Given the description of an element on the screen output the (x, y) to click on. 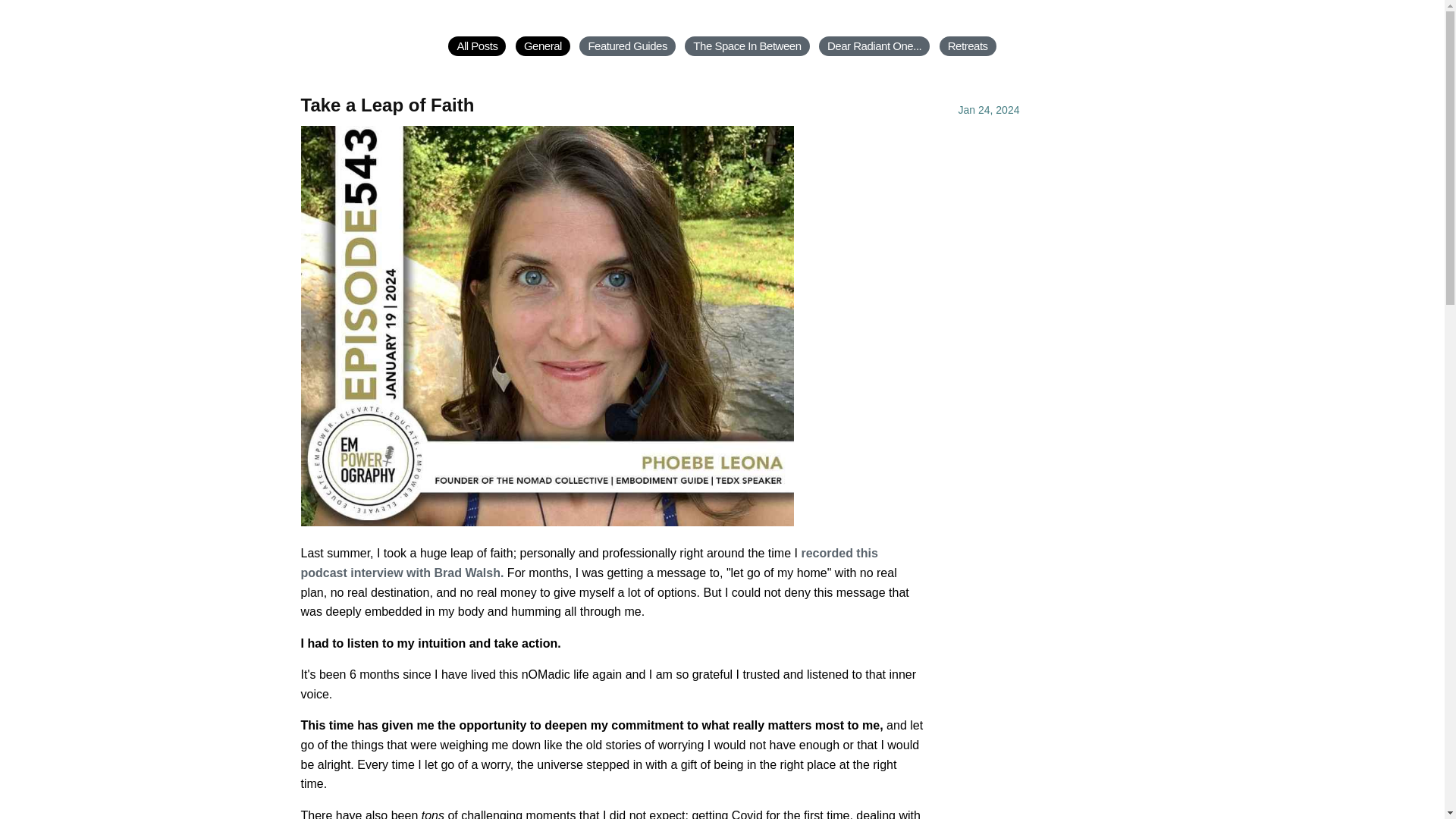
Dear Radiant One... (874, 46)
Featured Guides (627, 46)
recorded this podcast interview with Brad Walsh. (588, 563)
General (542, 46)
Retreats (967, 46)
The Space In Between (746, 46)
All Posts (476, 46)
